Given the description of an element on the screen output the (x, y) to click on. 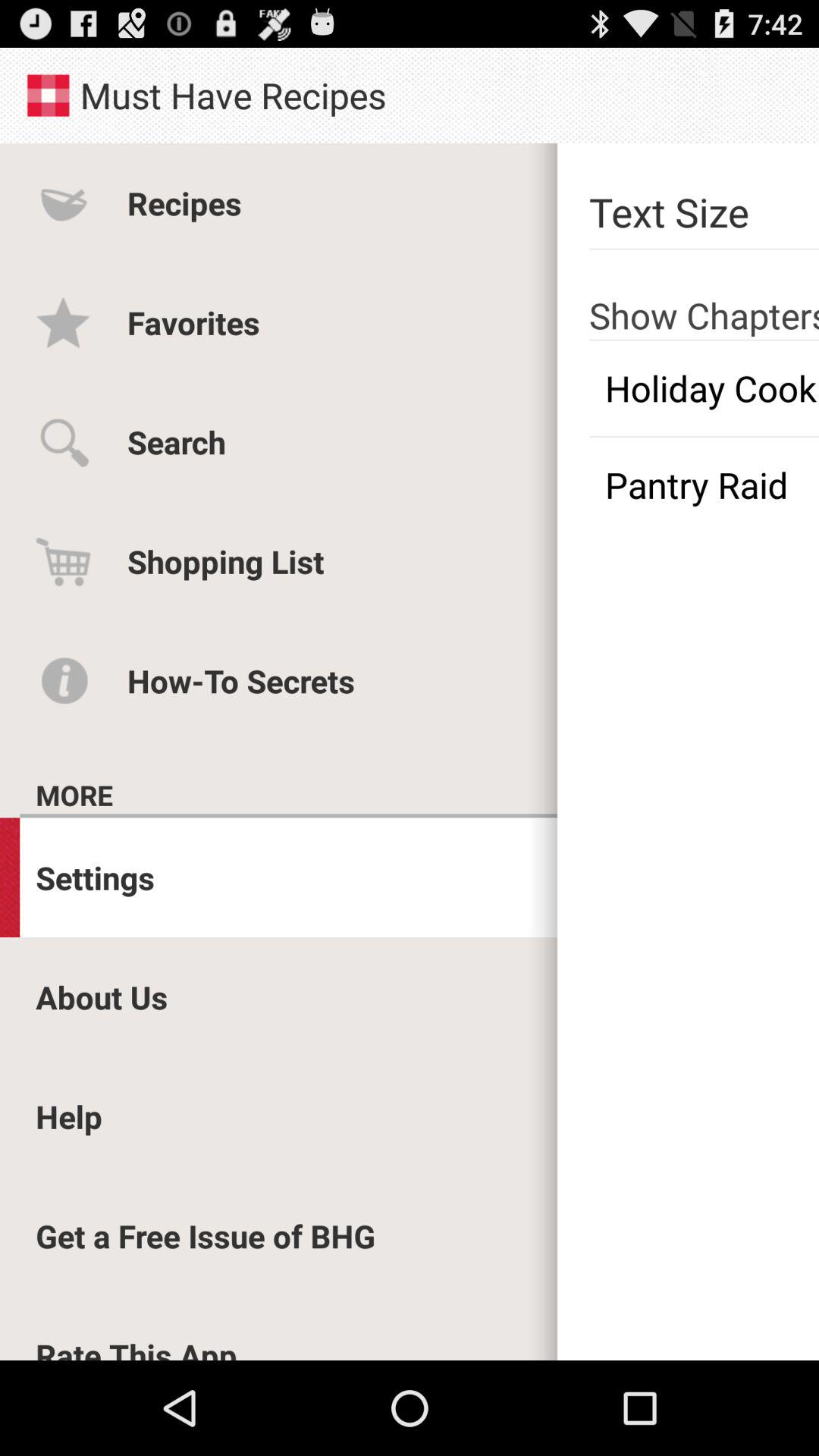
open the about us (101, 996)
